Given the description of an element on the screen output the (x, y) to click on. 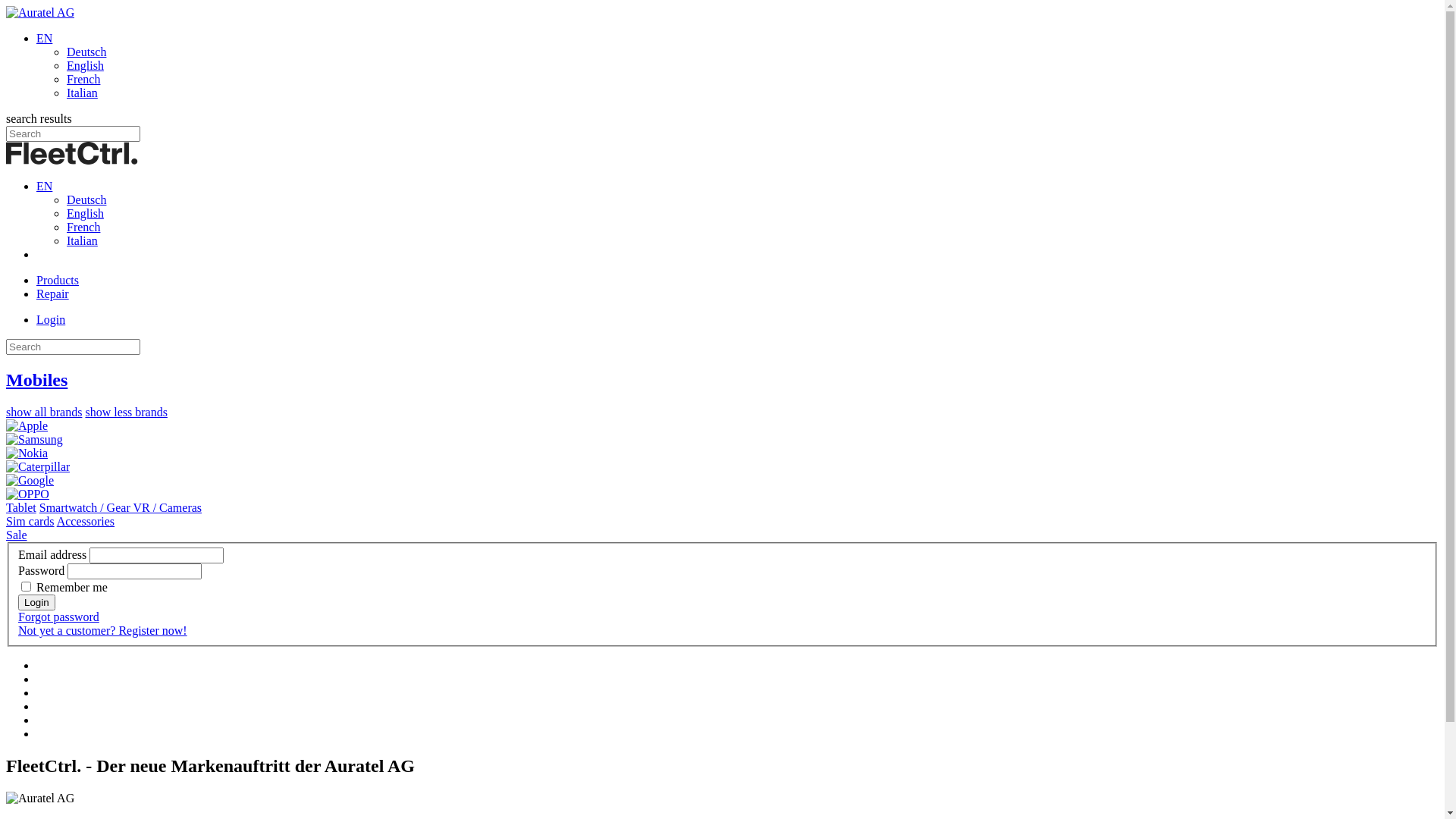
French Element type: text (83, 78)
Auratel AG Element type: hover (40, 798)
Nokia Element type: hover (26, 453)
French Element type: text (83, 226)
Not yet a customer? Register now! Element type: text (102, 630)
Italian Element type: text (81, 92)
Login Element type: text (50, 319)
EN Element type: text (44, 37)
OPPO Element type: hover (27, 494)
Auratel AG Element type: hover (40, 12)
Deutsch Element type: text (86, 199)
Accessories Element type: text (85, 520)
English Element type: text (84, 213)
Login Element type: text (36, 602)
Sale Element type: text (16, 534)
Google Element type: hover (29, 480)
Caterpillar Element type: hover (37, 466)
Smartwatch / Gear VR / Cameras Element type: text (120, 507)
Tablet Element type: text (21, 507)
Auratel AG Element type: hover (72, 152)
Deutsch Element type: text (86, 51)
EN Element type: text (44, 185)
Apple Element type: hover (26, 426)
Auratel AG Element type: hover (72, 159)
Italian Element type: text (81, 240)
show less brands Element type: text (125, 411)
Products Element type: text (57, 279)
Auratel AG Element type: hover (40, 12)
Forgot password Element type: text (58, 616)
English Element type: text (84, 65)
Samsung Element type: hover (34, 439)
Mobiles Element type: text (36, 379)
show all brands Element type: text (43, 411)
Repair Element type: text (52, 293)
Sim cards Element type: text (30, 520)
